Given the description of an element on the screen output the (x, y) to click on. 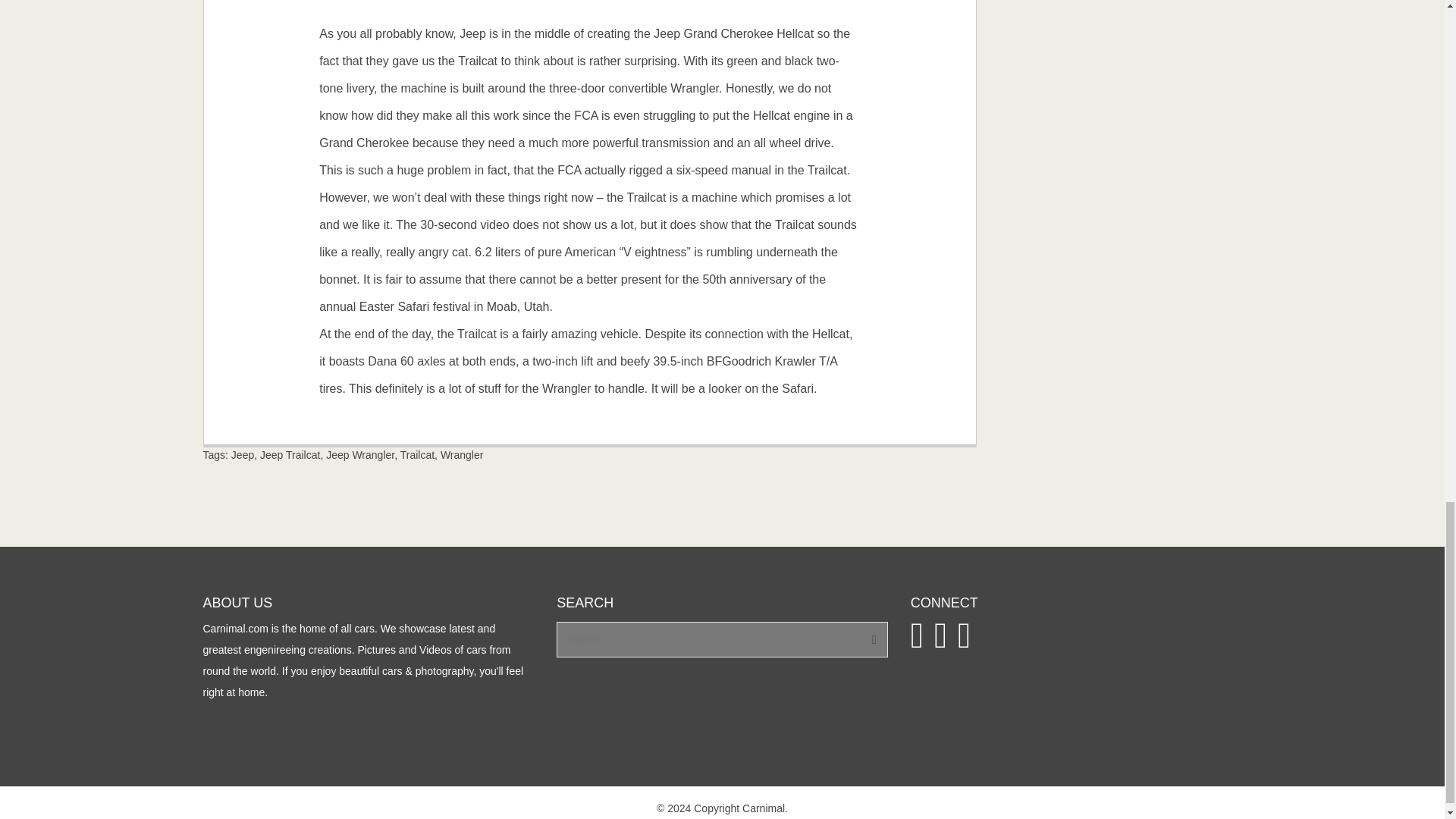
Jeep Wrangler (360, 454)
Jeep Trailcat (290, 454)
Trailcat (416, 454)
Jeep (242, 454)
Wrangler (462, 454)
